Given the description of an element on the screen output the (x, y) to click on. 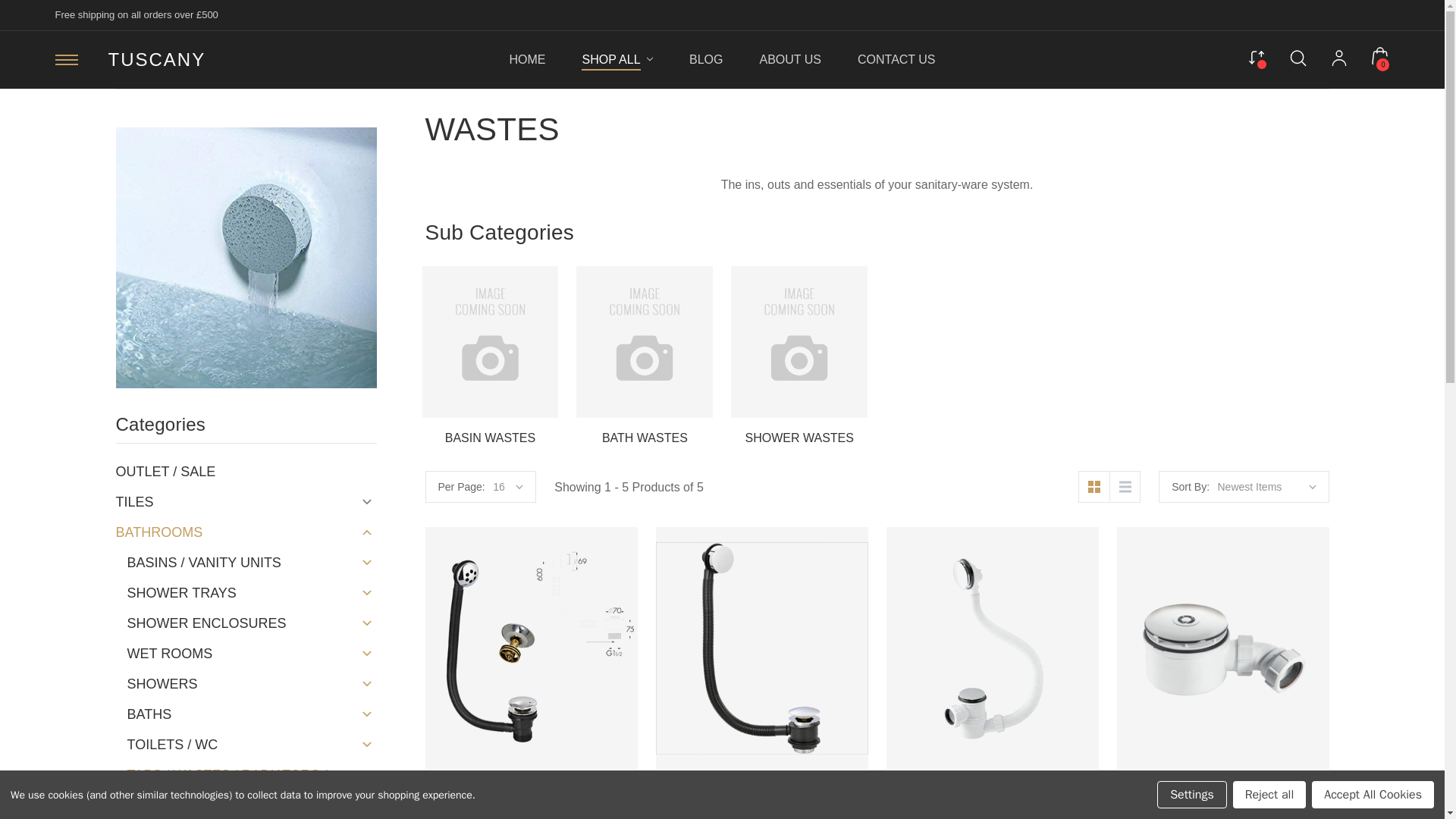
SHOWER WASTES (798, 341)
BASIN WASTES (489, 341)
No Image (644, 334)
TUSCANY (156, 59)
WASTES (245, 257)
No Image (799, 334)
SHOP ALL (616, 59)
No Image (490, 334)
TUSCANY (156, 59)
BATH WASTES (644, 341)
